Given the description of an element on the screen output the (x, y) to click on. 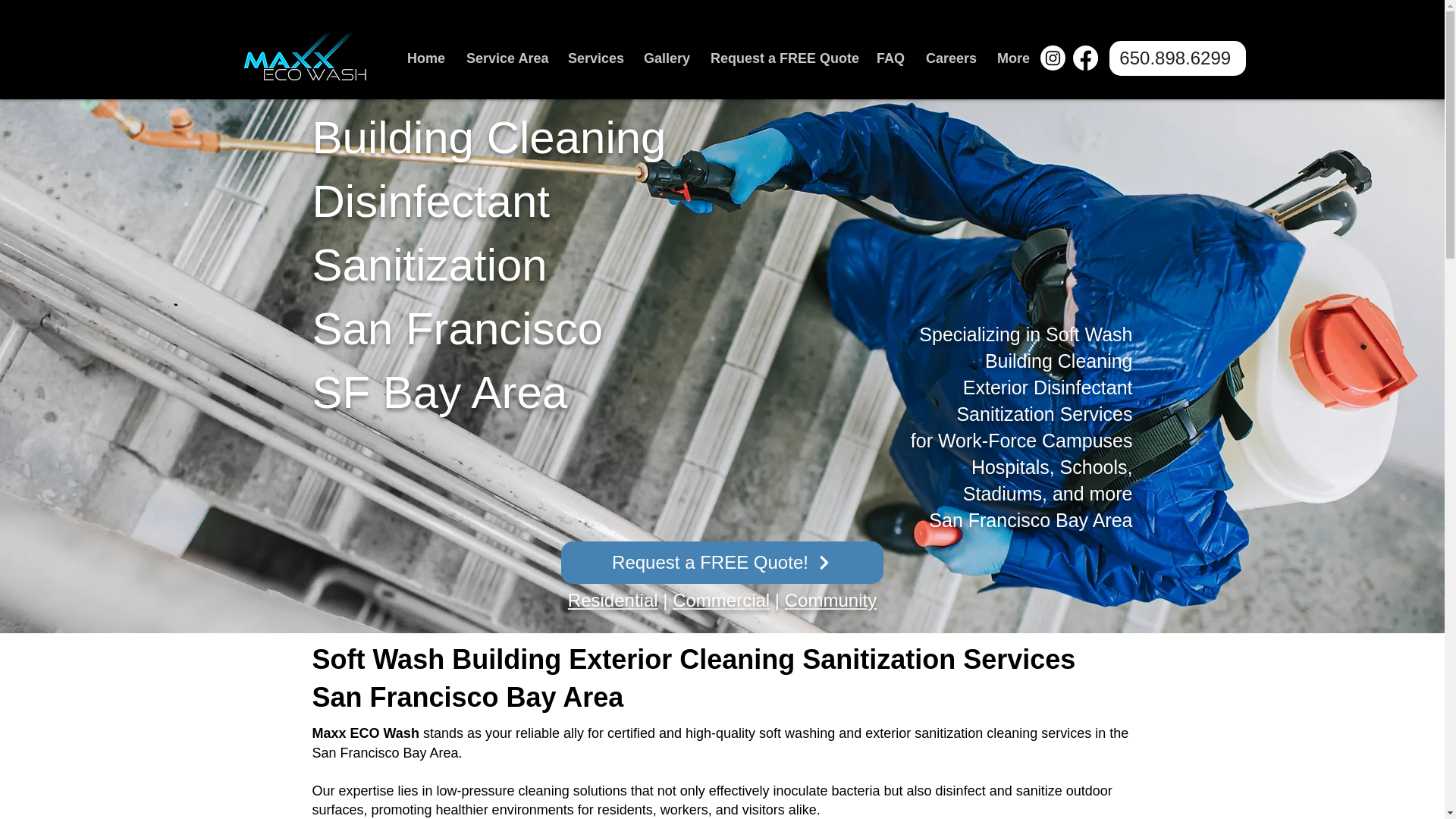
Home (425, 58)
